Given the description of an element on the screen output the (x, y) to click on. 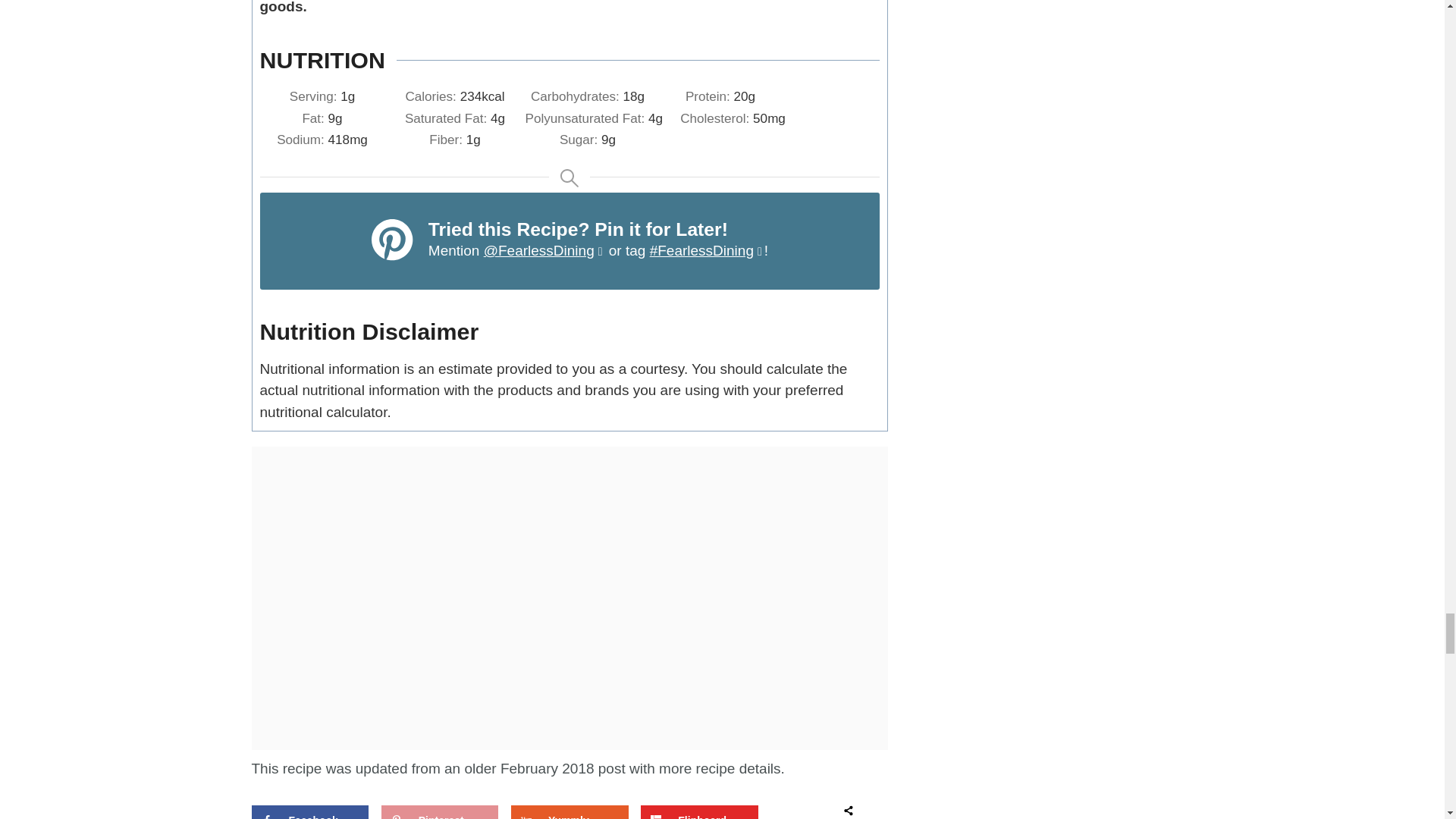
Save to Pinterest (439, 812)
Share on Yummly (569, 812)
Share on Facebook (309, 812)
Share on Flipboard (698, 812)
